Given the description of an element on the screen output the (x, y) to click on. 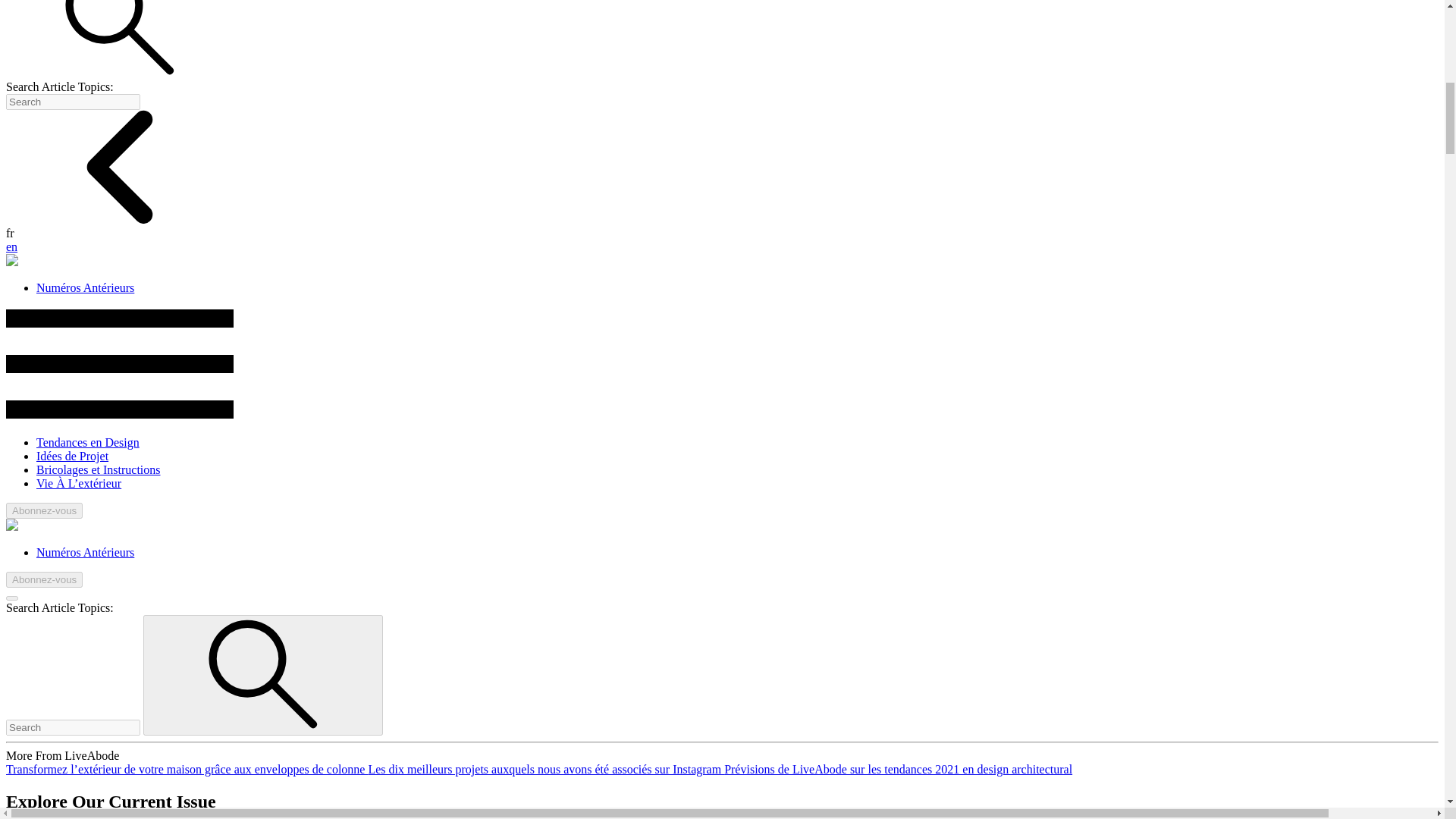
Abonnez-vous (43, 510)
Tendances en Design (87, 441)
Abonnez-vous (43, 579)
Bricolages et Instructions (98, 469)
